Given the description of an element on the screen output the (x, y) to click on. 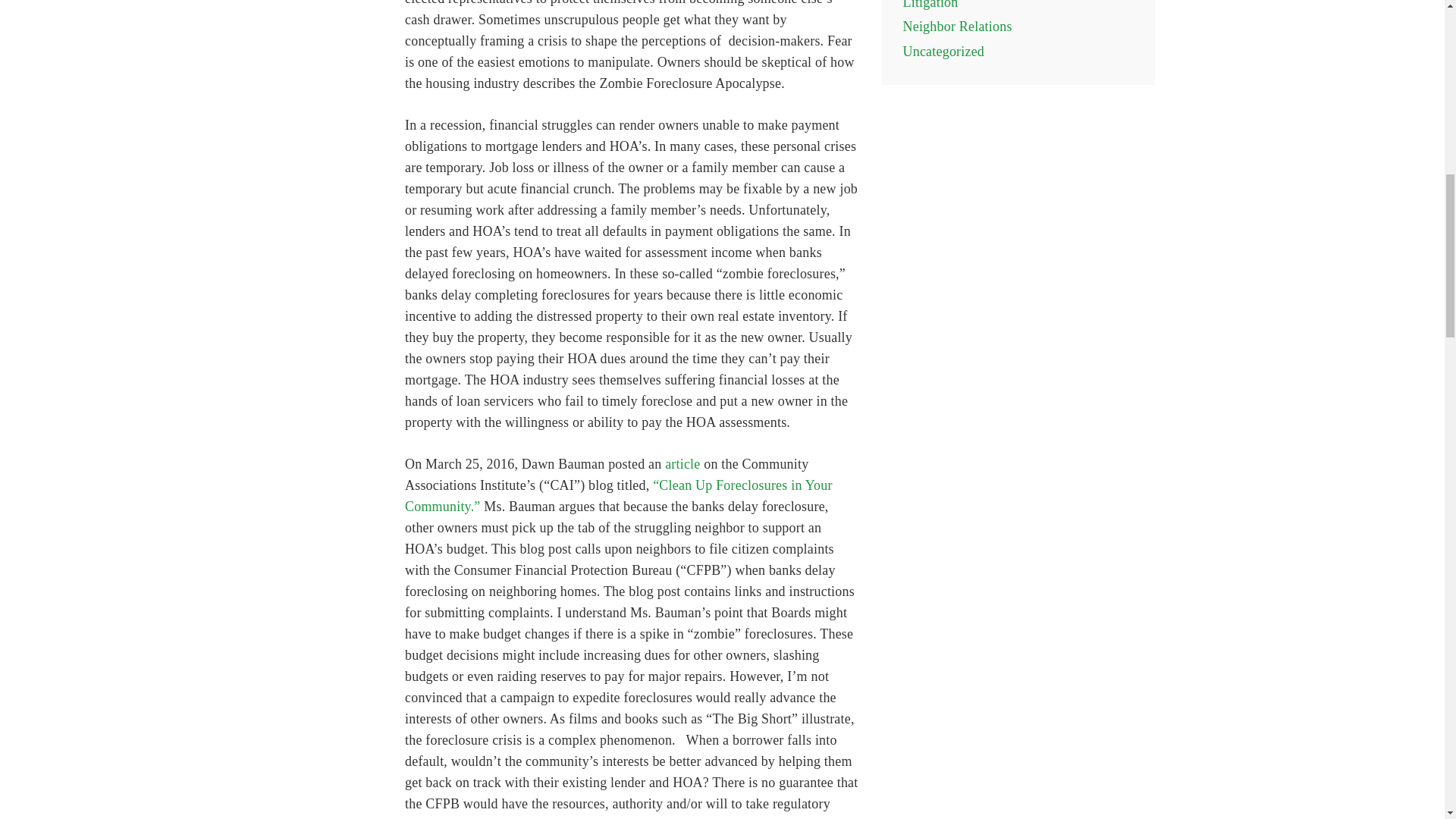
article (682, 463)
